Given the description of an element on the screen output the (x, y) to click on. 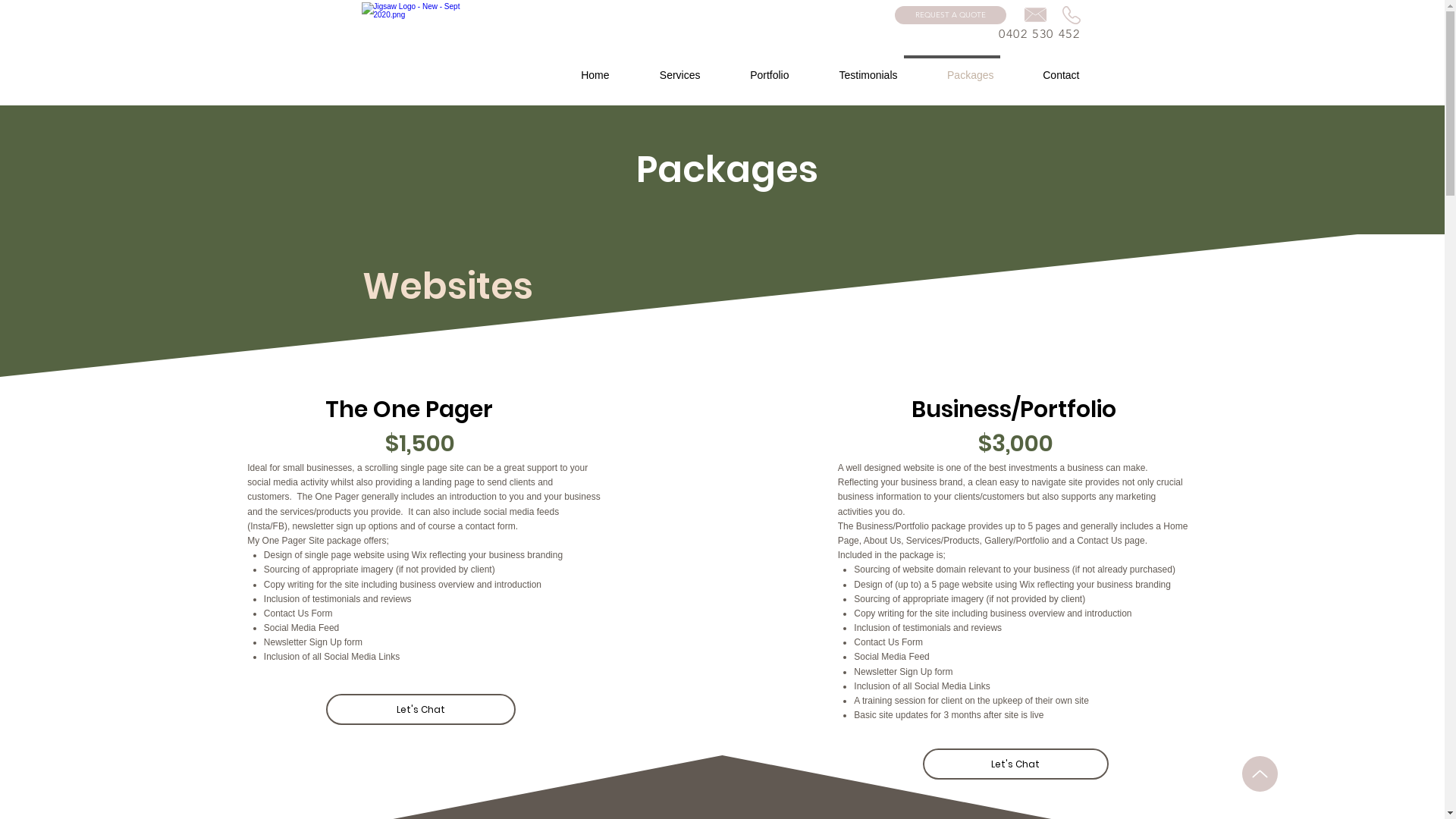
Services Element type: text (660, 68)
Packages Element type: text (951, 68)
Home Element type: text (575, 68)
Portfolio Element type: text (750, 68)
Testimonials Element type: text (848, 68)
Let's Chat Element type: text (420, 708)
0402 530 452 Element type: text (1038, 33)
REQUEST A QUOTE Element type: text (950, 15)
Contact Element type: text (1042, 68)
Let's Chat Element type: text (1015, 763)
